Given the description of an element on the screen output the (x, y) to click on. 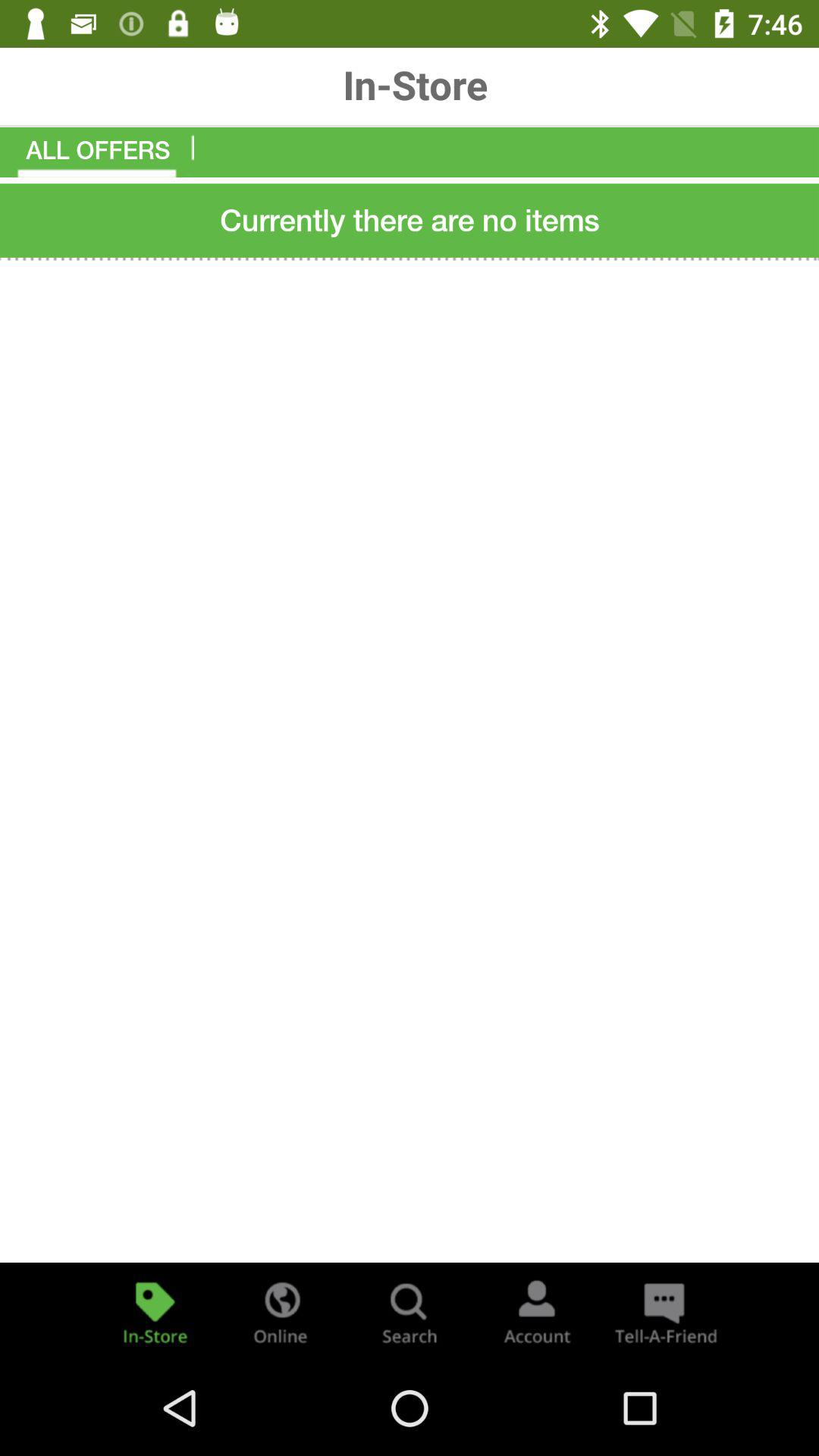
account tab (536, 1311)
